Given the description of an element on the screen output the (x, y) to click on. 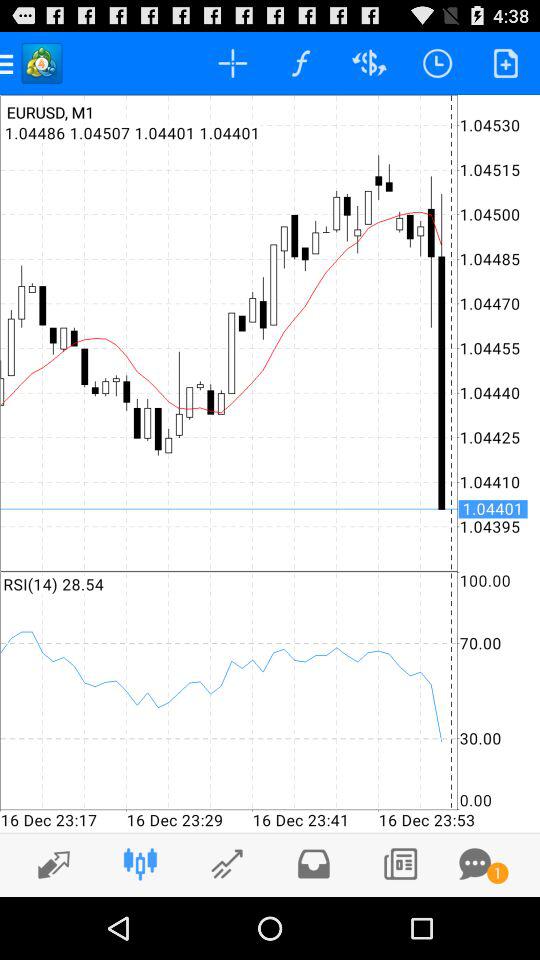
view a different relevant page (226, 863)
